Given the description of an element on the screen output the (x, y) to click on. 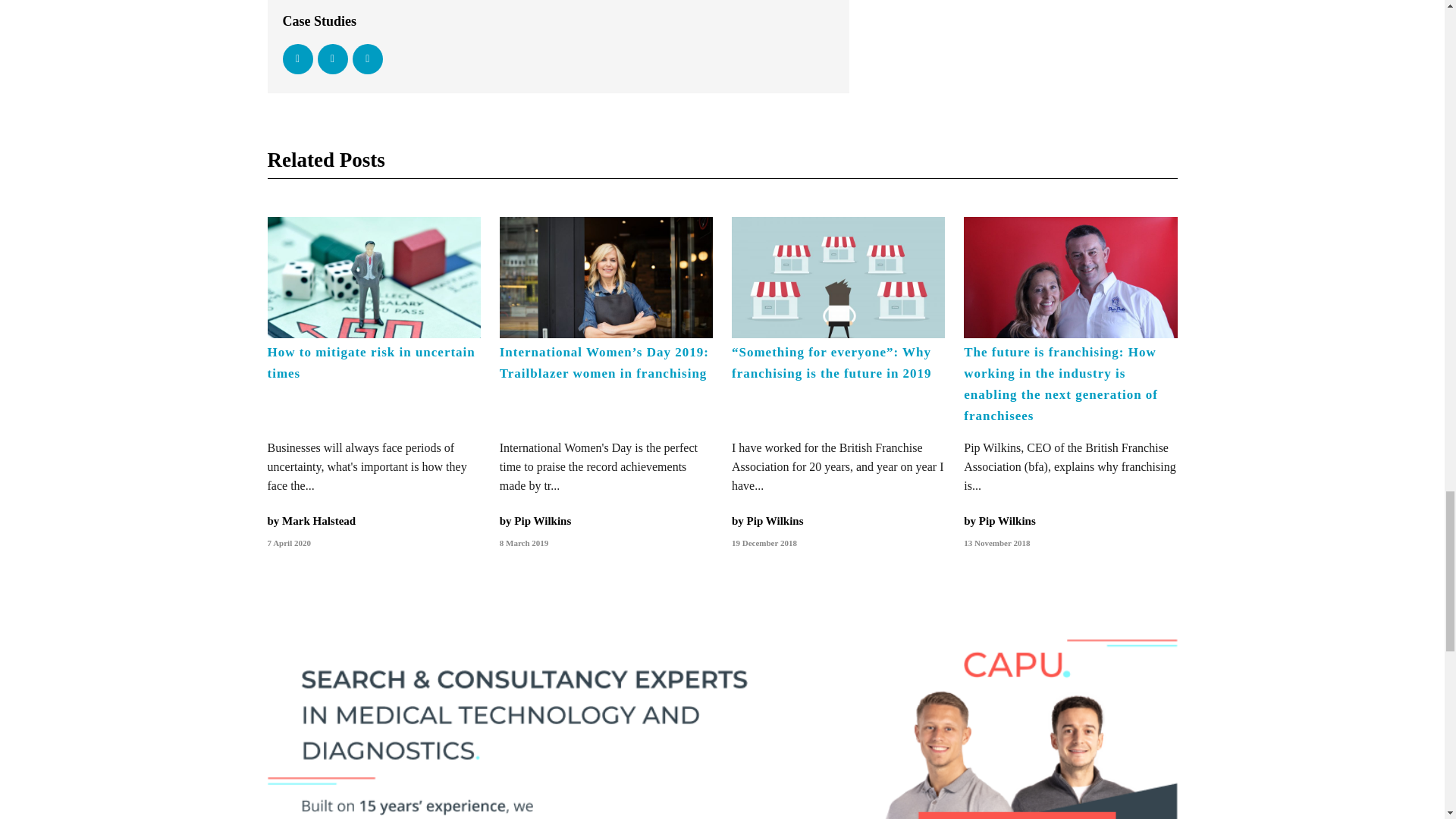
Linkedin (367, 59)
Facebook (297, 59)
Case Studies (319, 20)
Twitter (332, 59)
